Given the description of an element on the screen output the (x, y) to click on. 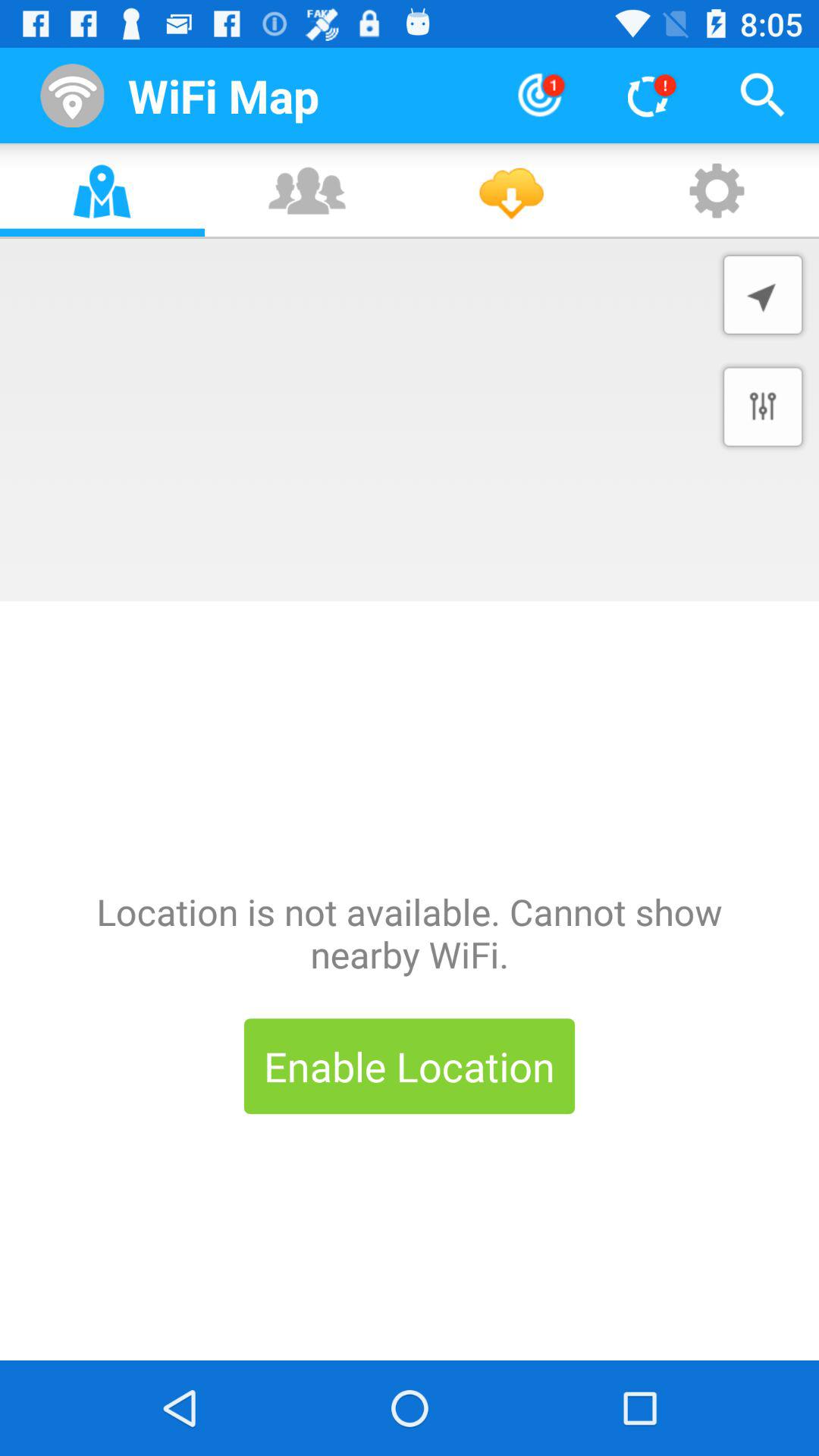
choose icon above location is not item (762, 406)
